Given the description of an element on the screen output the (x, y) to click on. 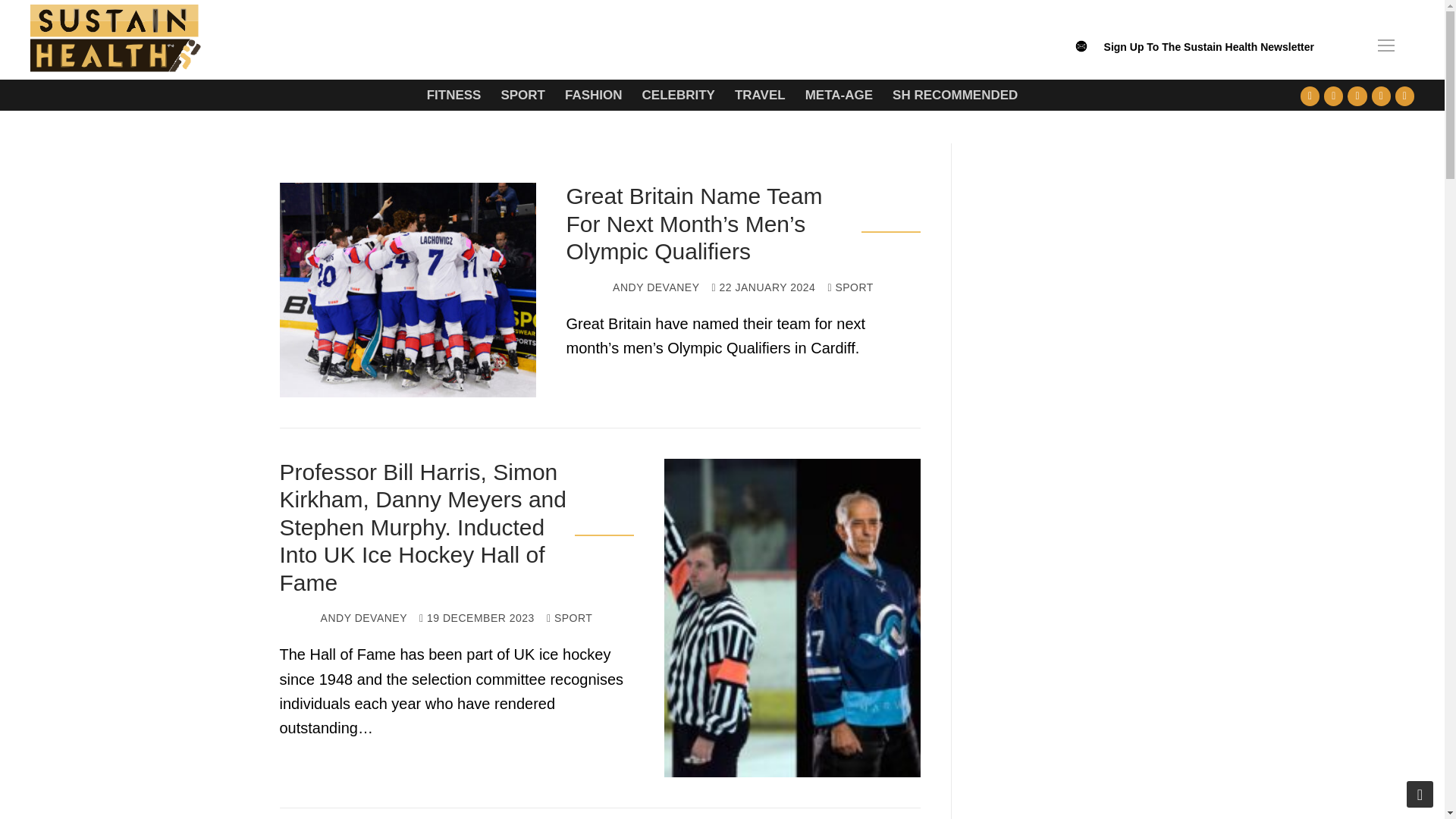
Instagram (1380, 95)
Pinterest (1404, 95)
Sign Up To The Sustain Health Newsletter (1208, 53)
META-AGE (838, 94)
Youtube (1357, 95)
SH RECOMMENDED (954, 94)
FITNESS (454, 94)
SPORT (522, 94)
CELEBRITY (678, 94)
Twitter (1333, 95)
TRAVEL (759, 94)
FASHION (592, 94)
Facebook (1310, 95)
